Given the description of an element on the screen output the (x, y) to click on. 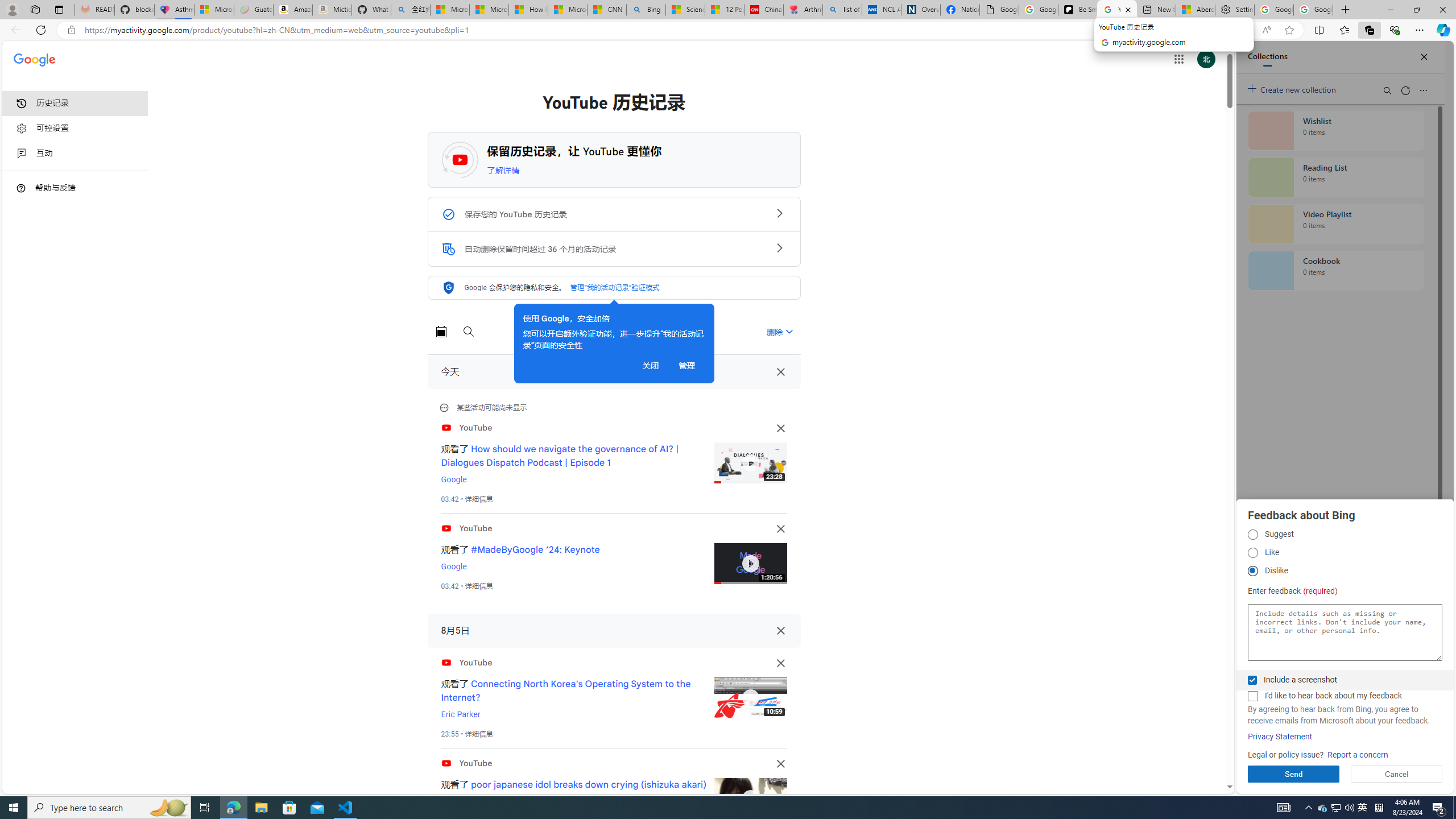
Like Like (1252, 552)
Eric Parker (460, 714)
